Given the description of an element on the screen output the (x, y) to click on. 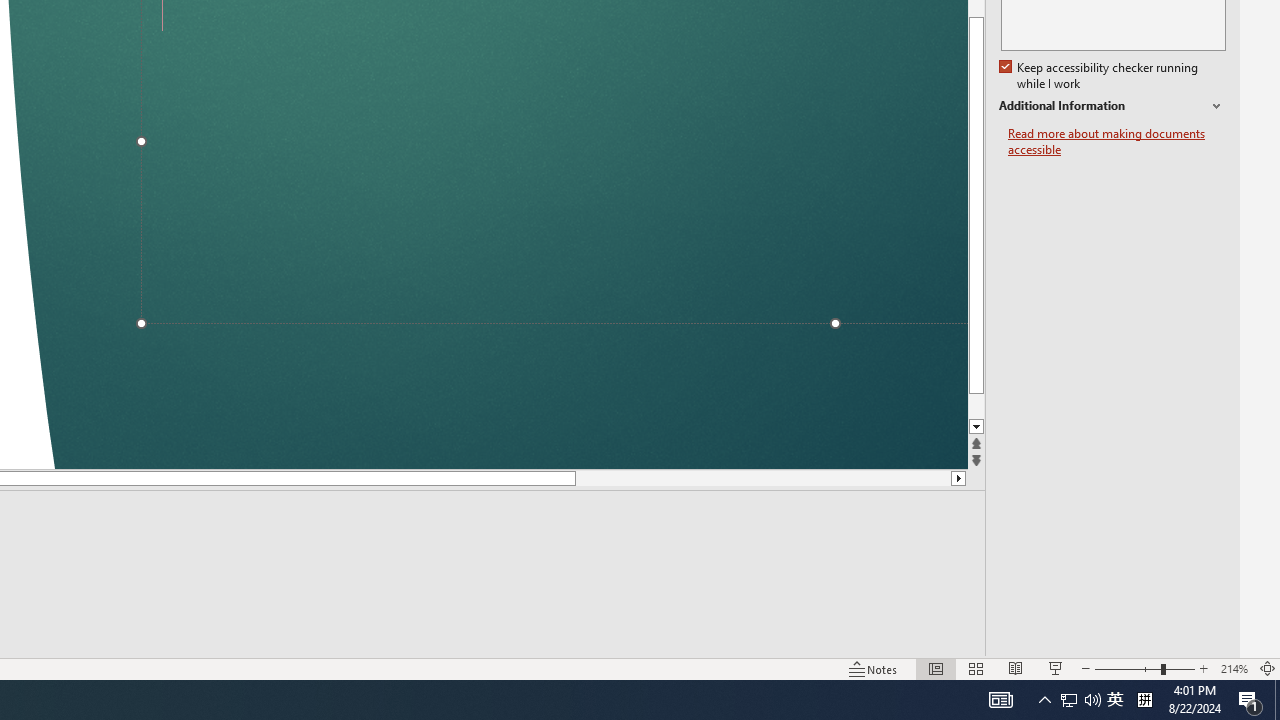
Zoom 214% (1234, 668)
Read more about making documents accessible (1117, 142)
Additional Information (1112, 106)
Keep accessibility checker running while I work (1099, 76)
Page down (572, 478)
